Given the description of an element on the screen output the (x, y) to click on. 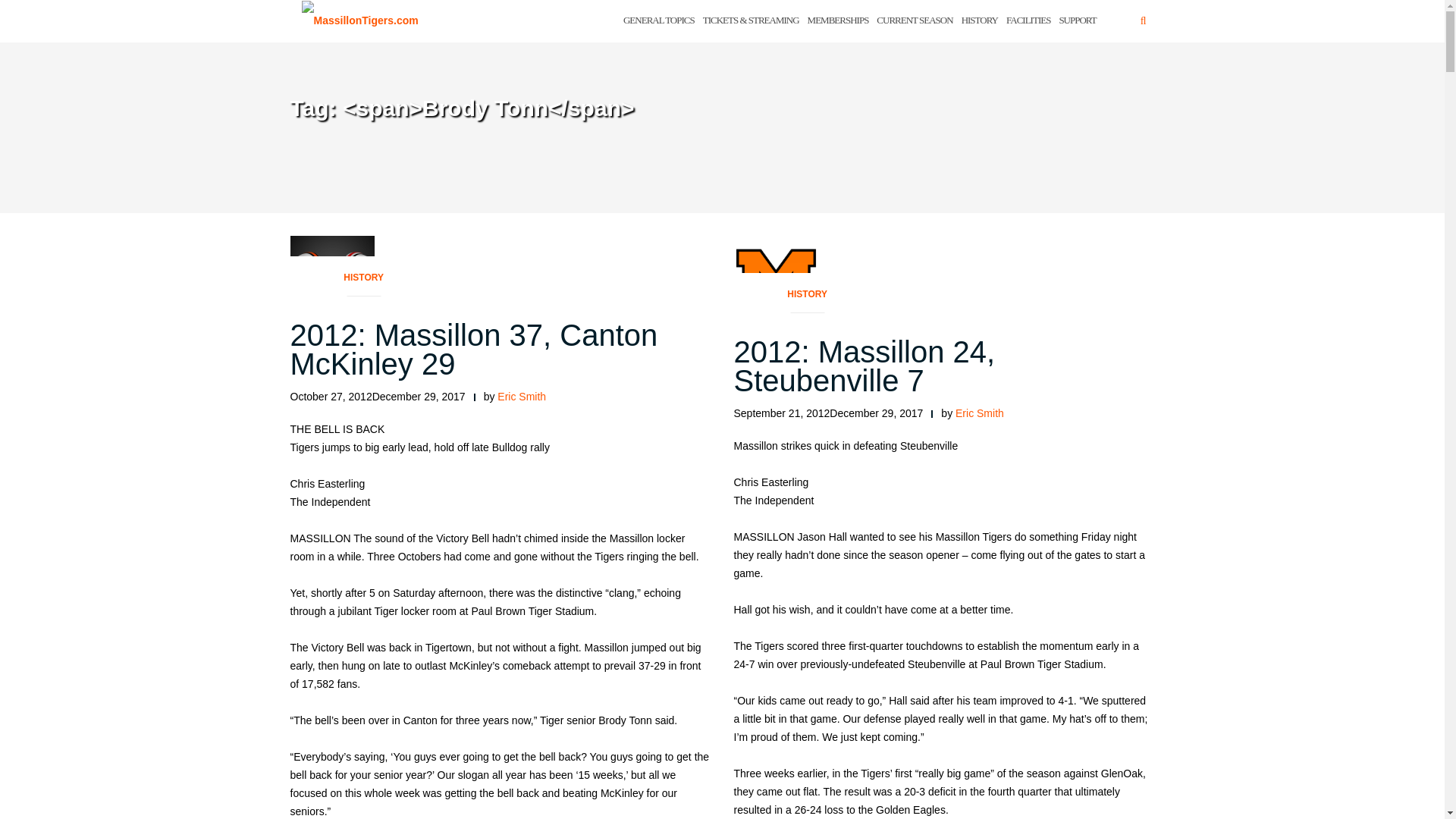
GENERAL TOPICS (658, 20)
MEMBERSHIPS (838, 20)
Memberships (838, 20)
Eric Smith (979, 413)
FACILITIES (1027, 20)
2012: Massillon 37, Canton McKinley 29 (473, 349)
HISTORY (806, 298)
Facilities (1027, 20)
Support (1077, 20)
Current Season (914, 20)
